Given the description of an element on the screen output the (x, y) to click on. 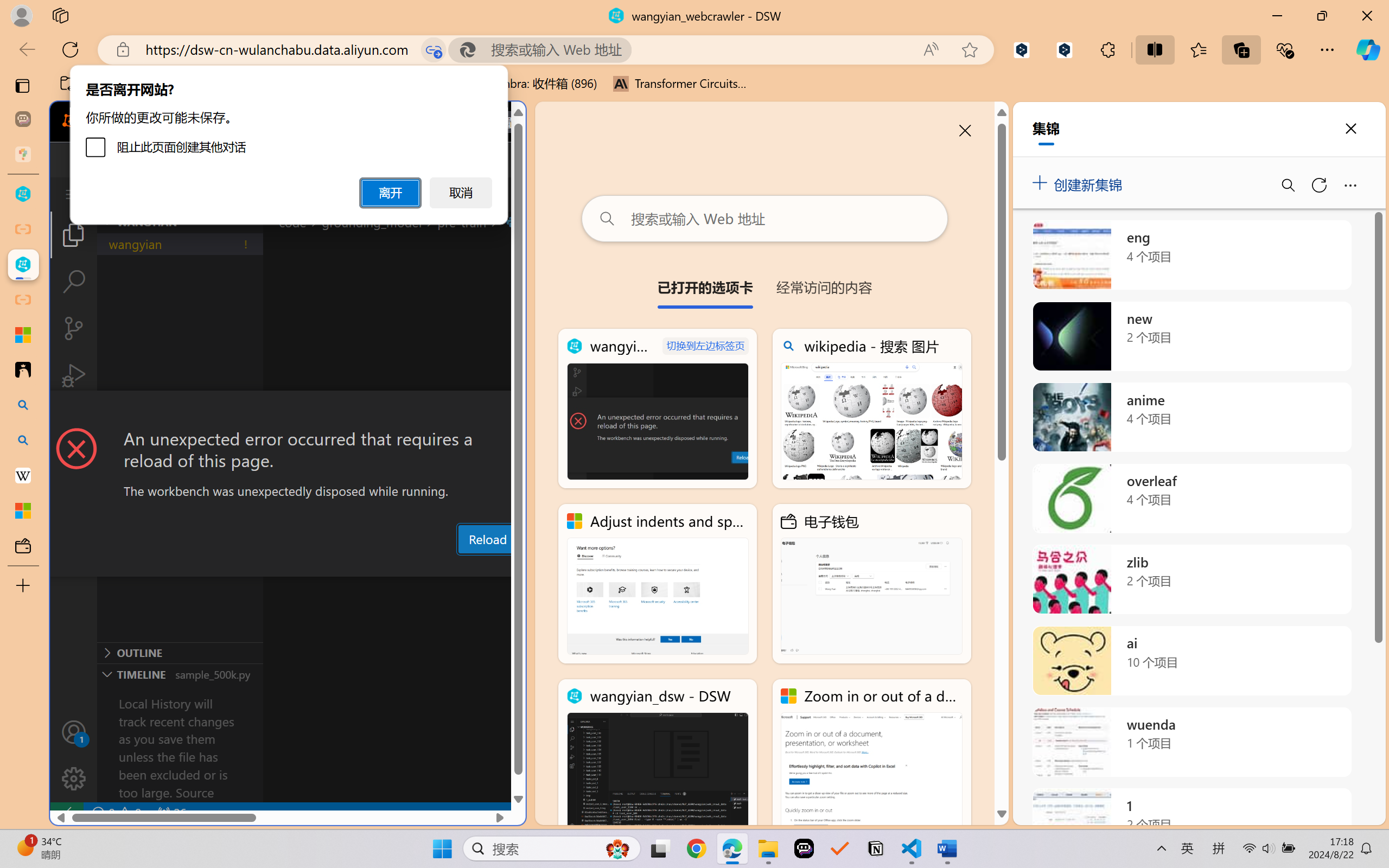
wangyian_webcrawler - DSW (657, 408)
Run and Debug (Ctrl+Shift+D) (73, 375)
Debug Console (Ctrl+Shift+Y) (463, 565)
Timeline Section (179, 673)
